Given the description of an element on the screen output the (x, y) to click on. 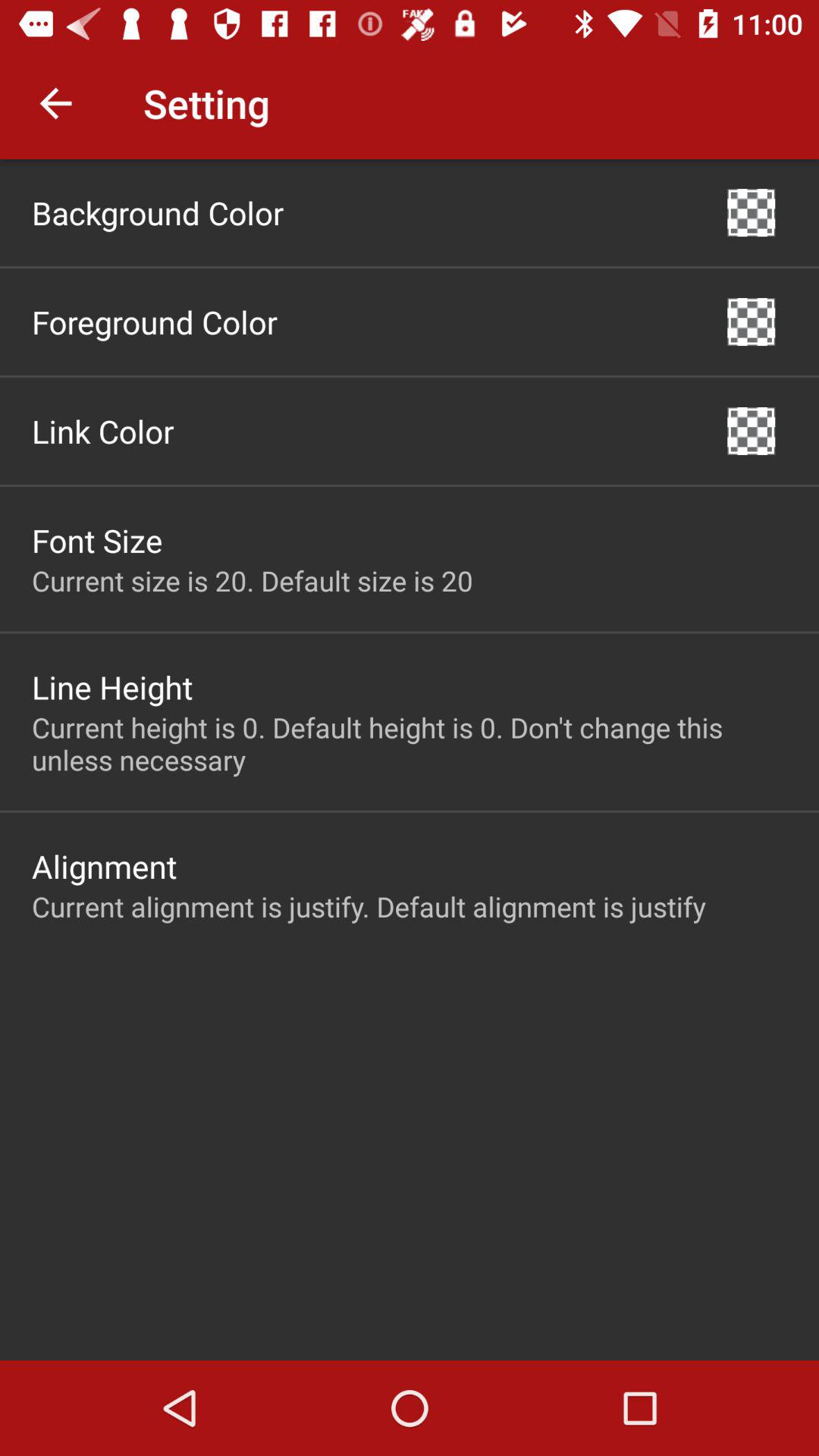
tap icon below background color icon (154, 321)
